Given the description of an element on the screen output the (x, y) to click on. 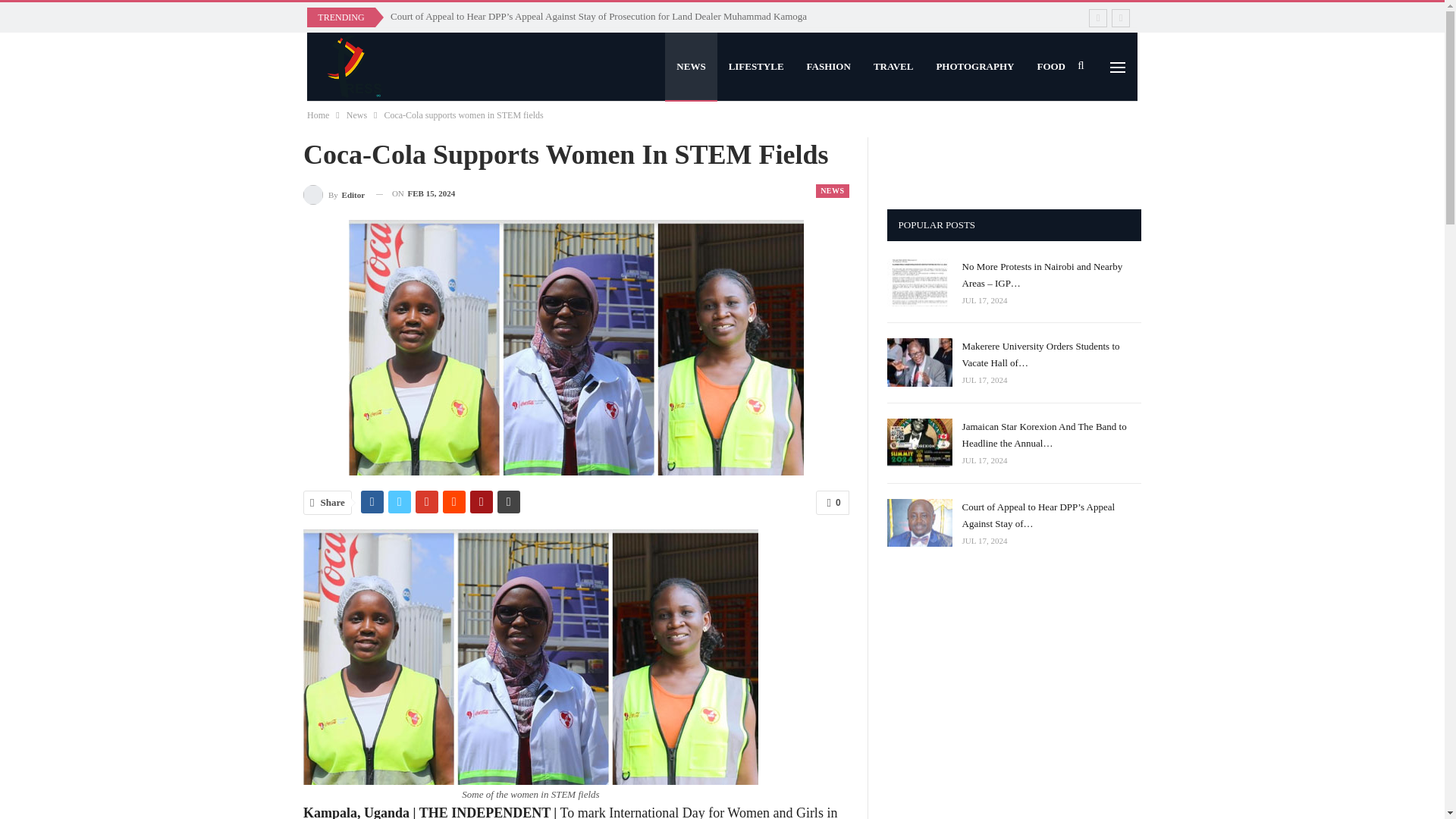
NEWS (831, 191)
Home (318, 115)
By Editor (333, 193)
FASHION (827, 66)
PHOTOGRAPHY (974, 66)
LIFESTYLE (755, 66)
News (356, 115)
Browse Author Articles (333, 193)
TRAVEL (892, 66)
0 (831, 502)
